Given the description of an element on the screen output the (x, y) to click on. 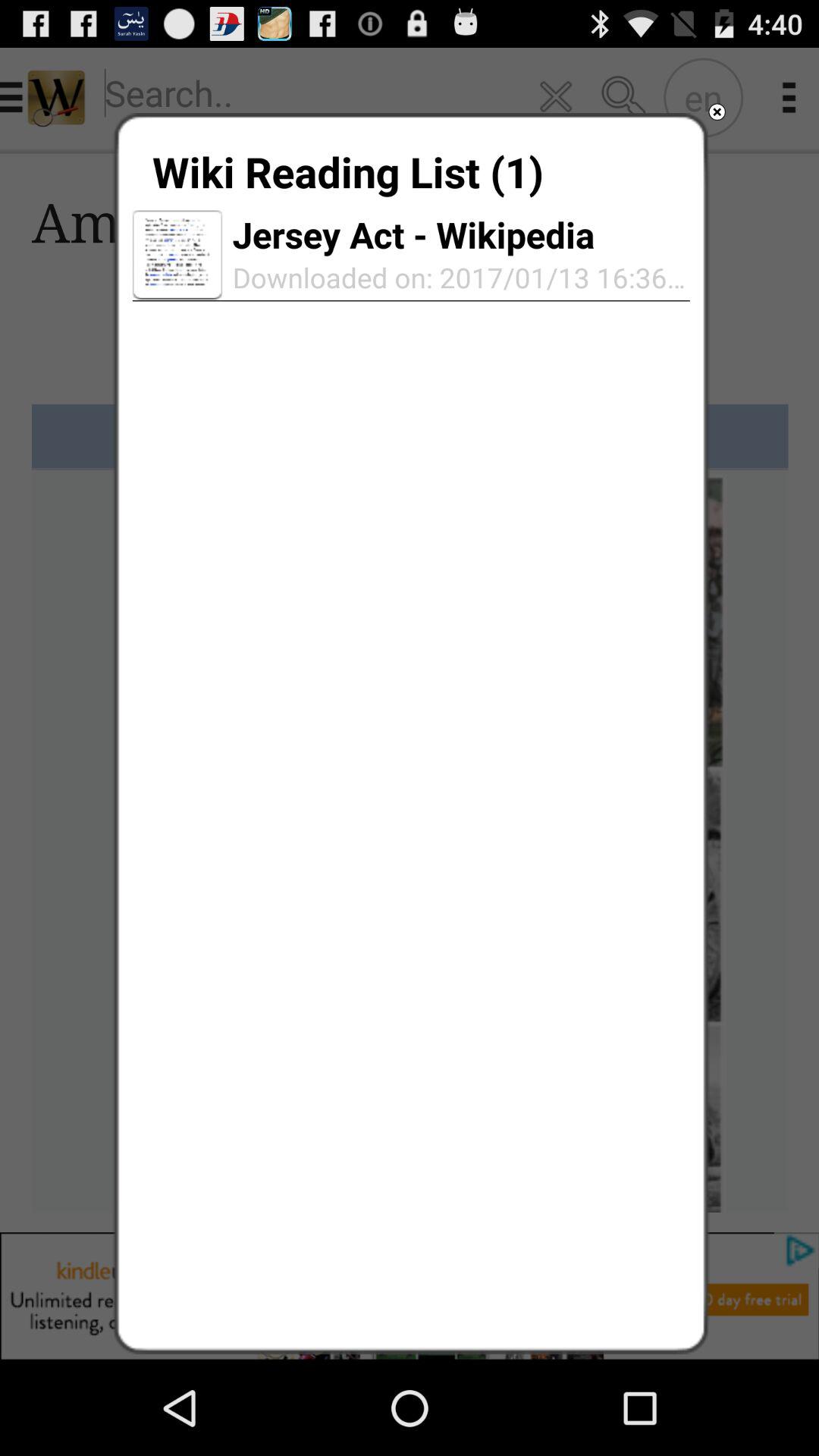
click the app to the right of wiki reading list (716, 111)
